Given the description of an element on the screen output the (x, y) to click on. 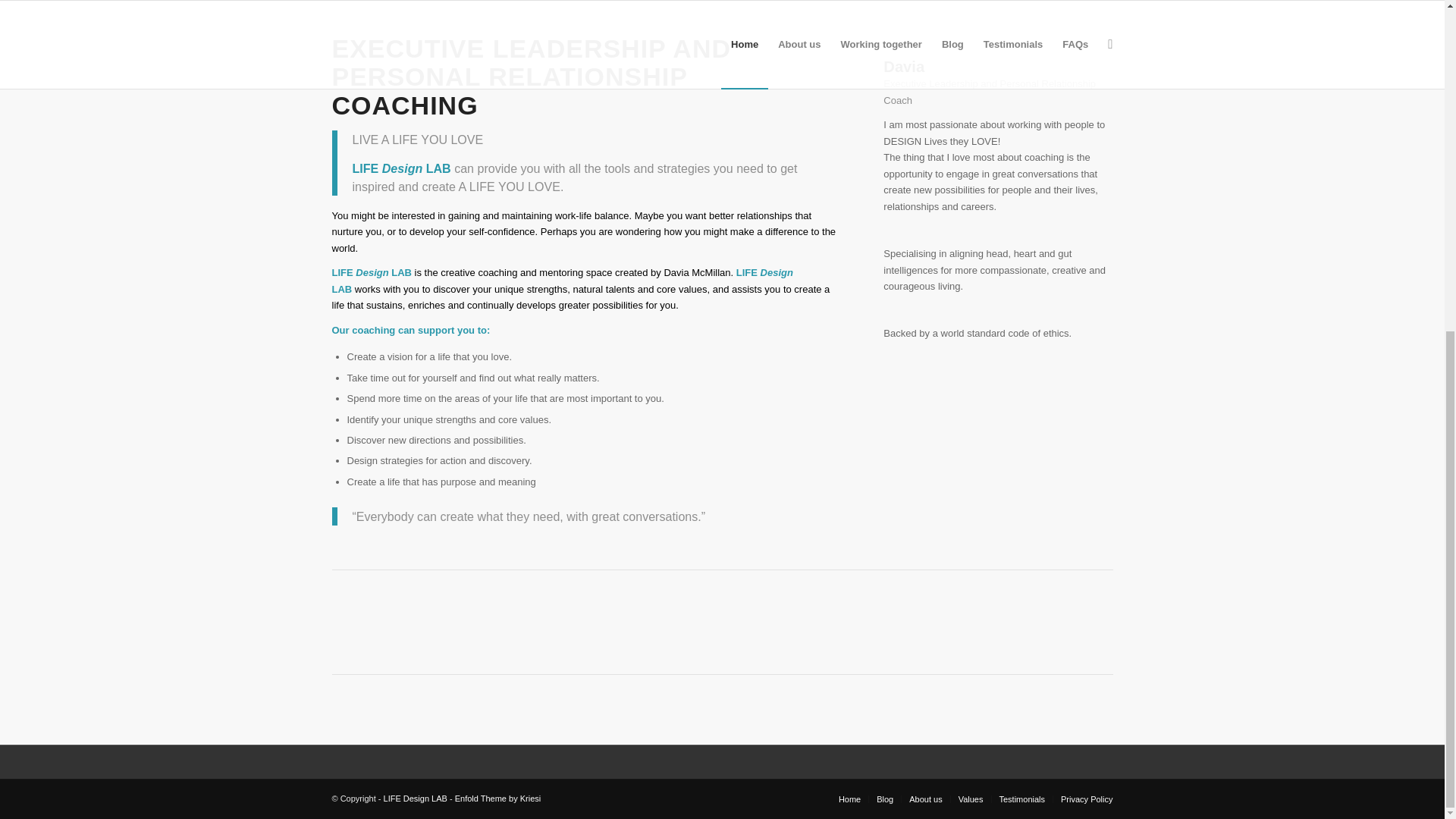
Testimonials (1021, 798)
Home (849, 798)
LIFE Design LAB (415, 798)
Values (971, 798)
About us (925, 798)
Enfold Theme by Kriesi (497, 798)
Privacy Policy (1086, 798)
Blog (884, 798)
